Given the description of an element on the screen output the (x, y) to click on. 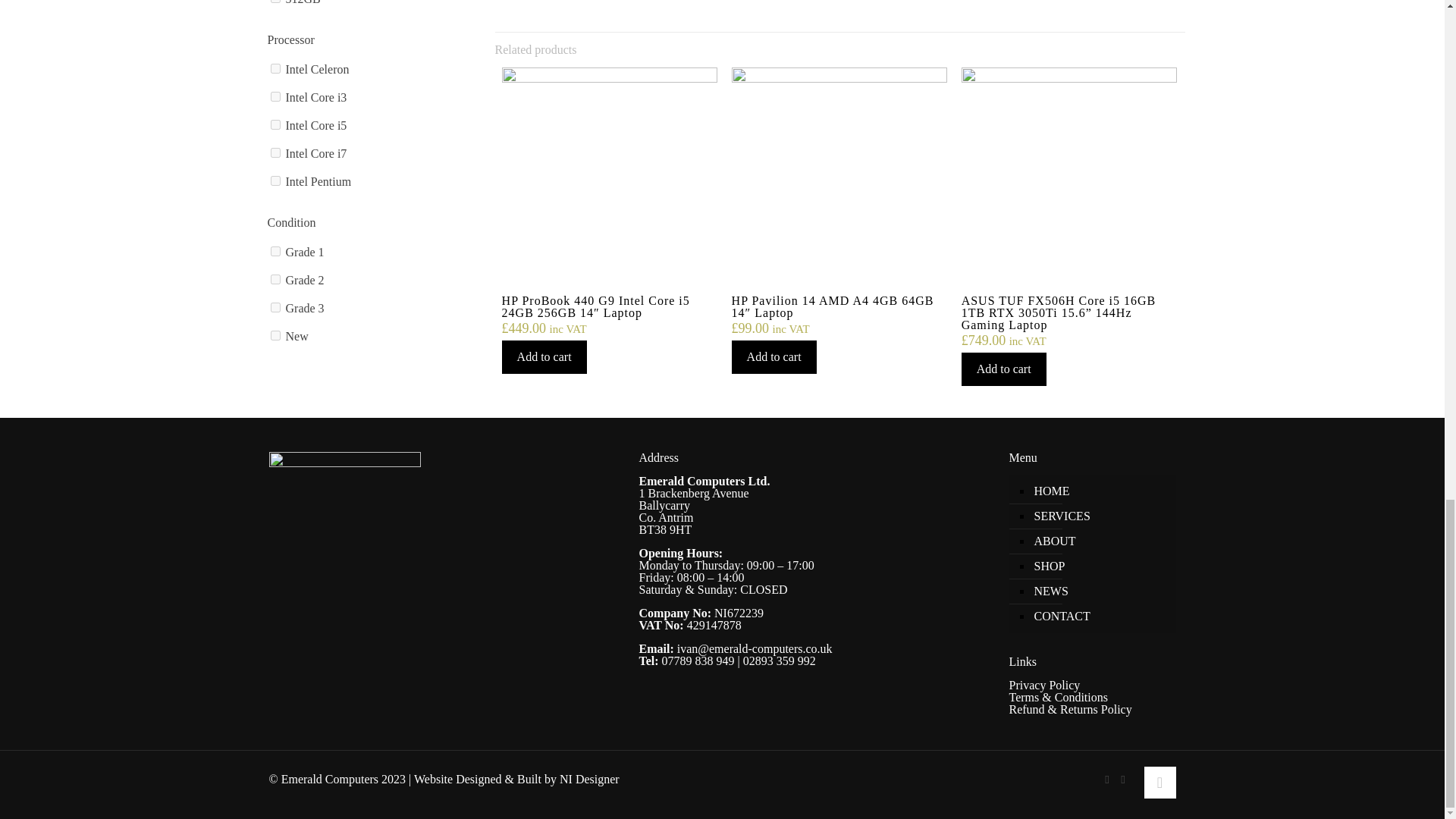
Facebook (1106, 779)
Instagram (1123, 779)
